Given the description of an element on the screen output the (x, y) to click on. 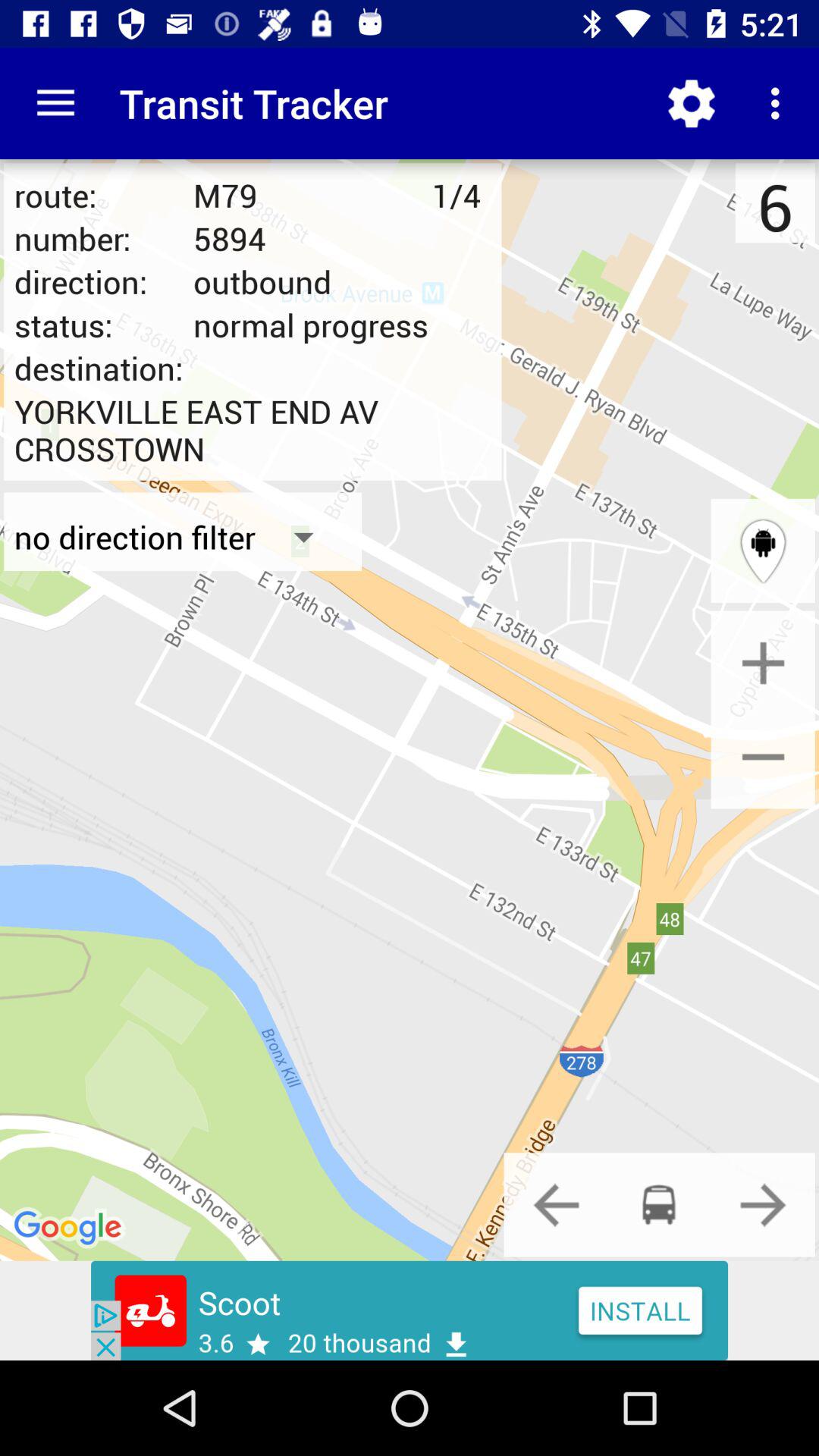
select the right arrow icon at the bottom right of the page (762, 1204)
